Given the description of an element on the screen output the (x, y) to click on. 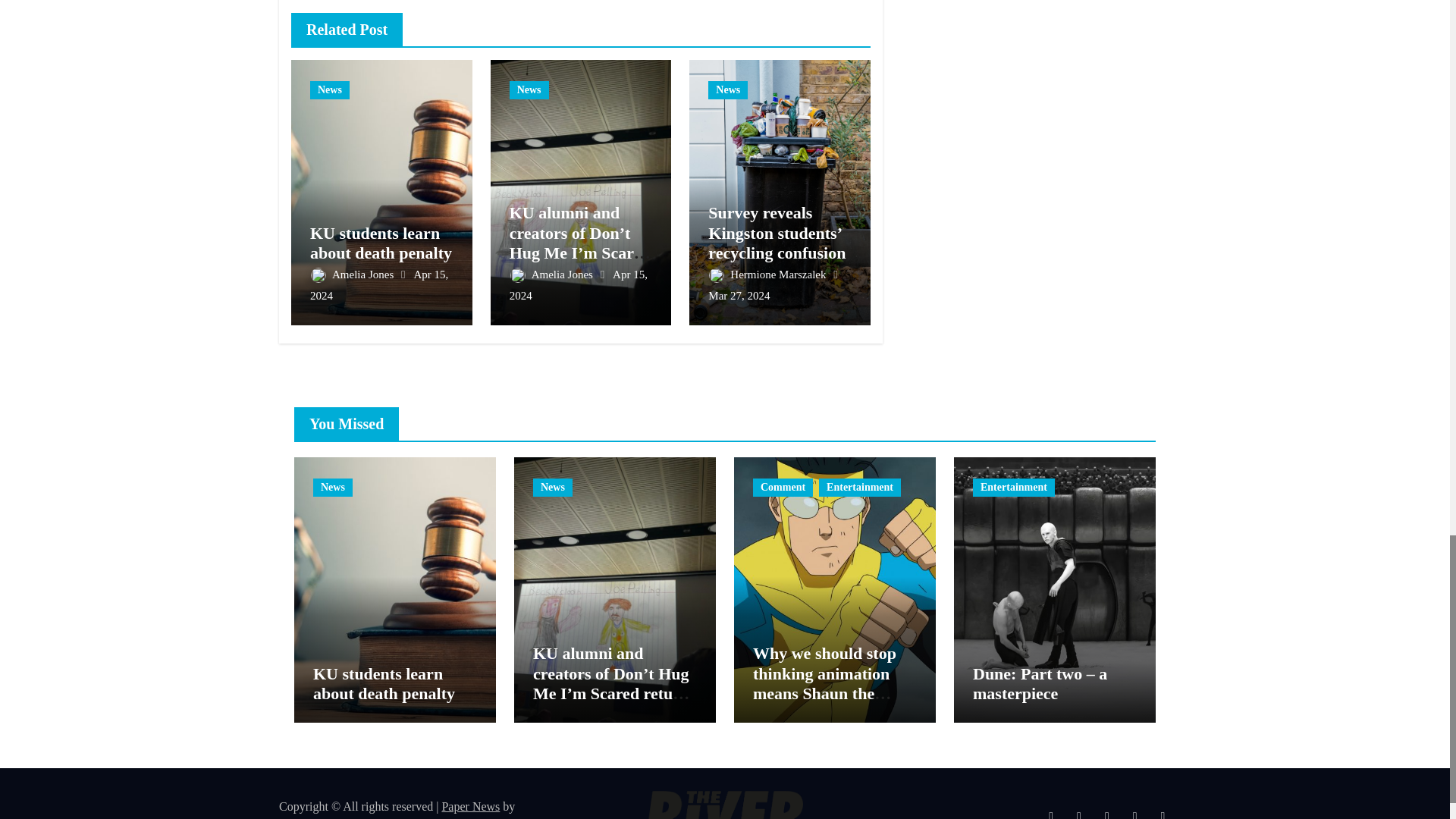
Permalink to: KU students learn about death penalty (380, 242)
